Given the description of an element on the screen output the (x, y) to click on. 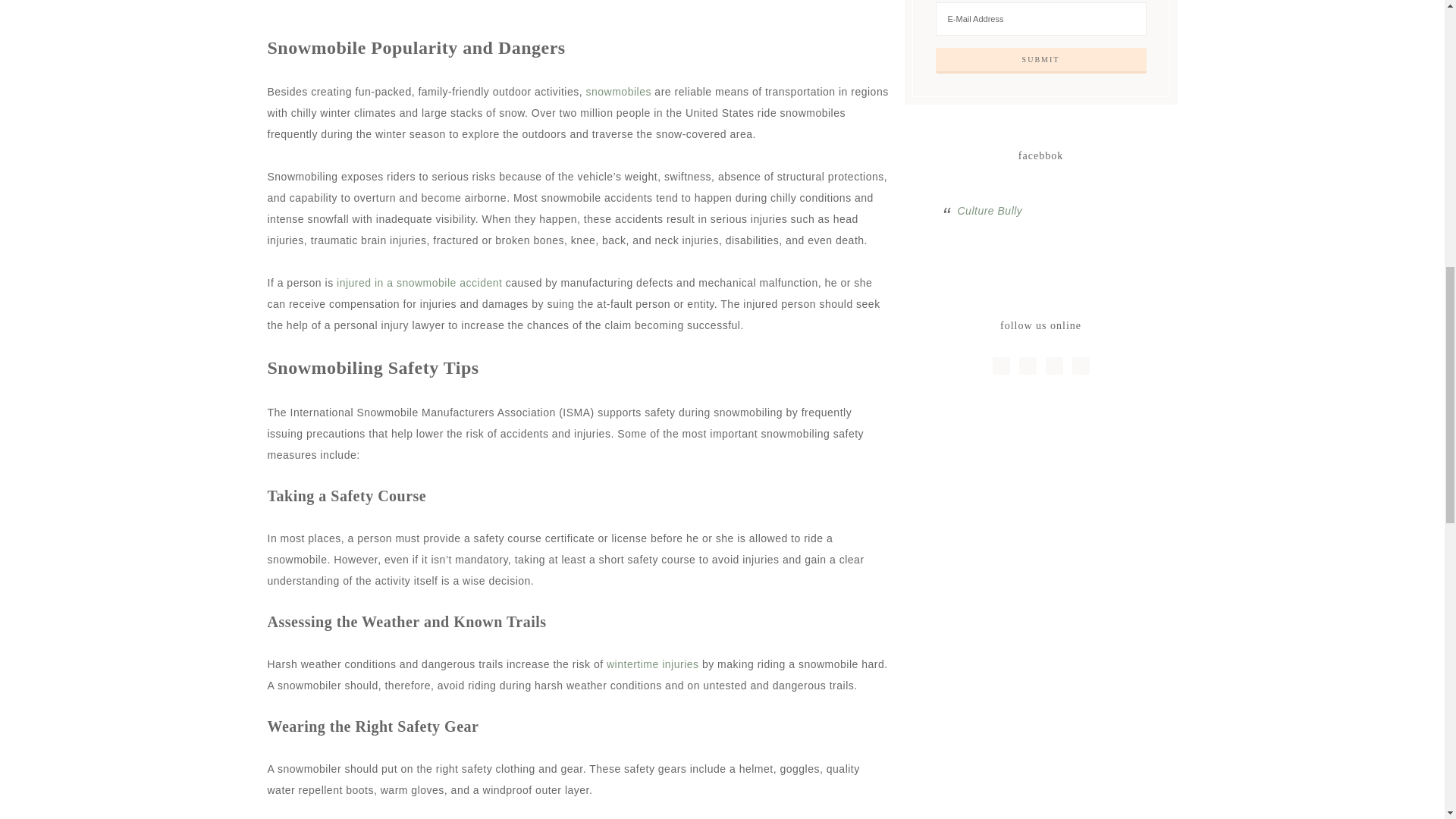
Submit (1041, 60)
injured in a snowmobile accident (419, 282)
wintertime injuries (652, 664)
Culture Bully (989, 210)
Submit (1041, 60)
snowmobiles (618, 91)
